Given the description of an element on the screen output the (x, y) to click on. 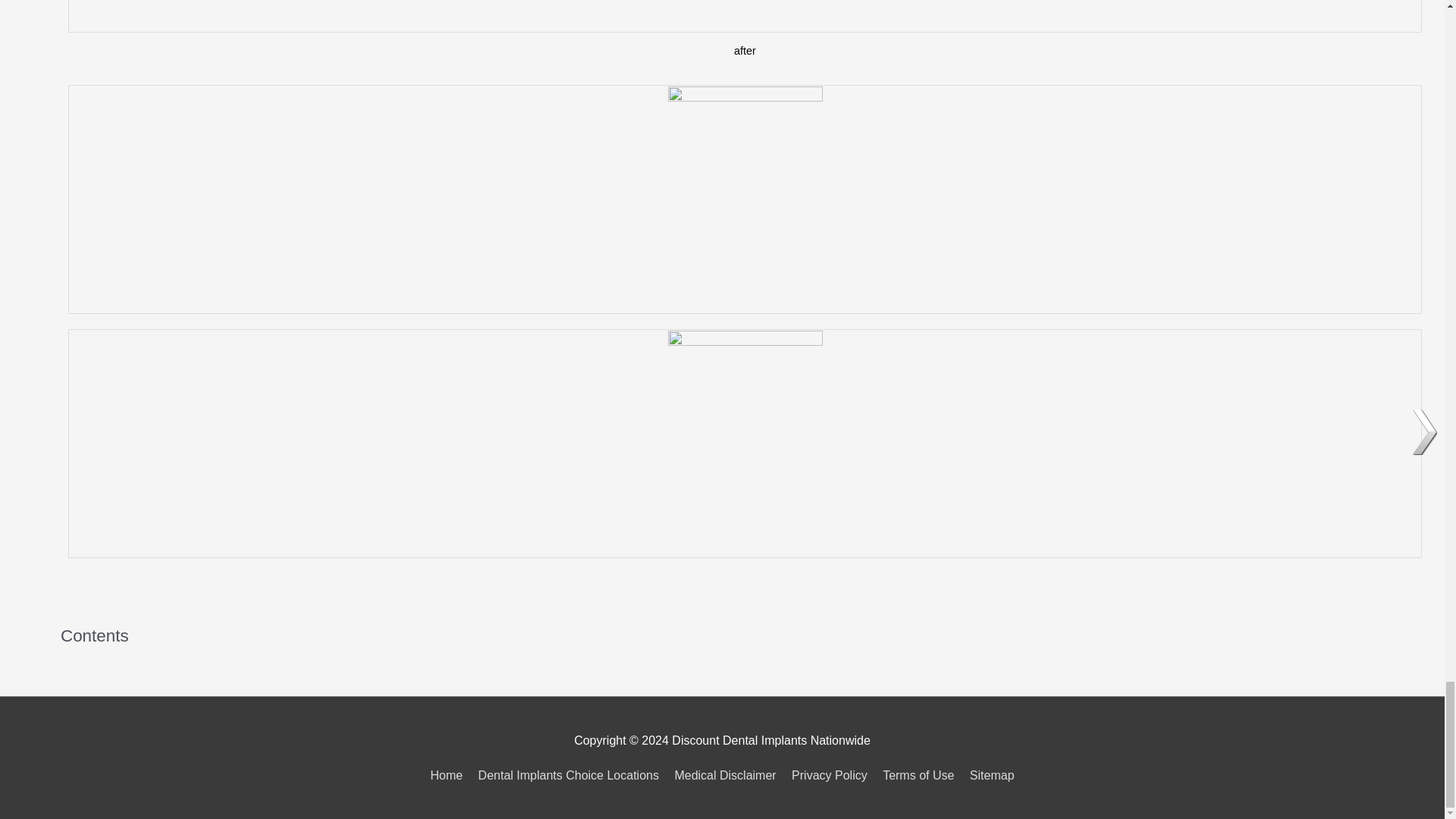
Sitemap (988, 775)
Privacy Policy (829, 775)
Home (448, 775)
Medical Disclaimer (724, 775)
Dental Implants Choice Locations (568, 775)
Terms of Use (917, 775)
